Given the description of an element on the screen output the (x, y) to click on. 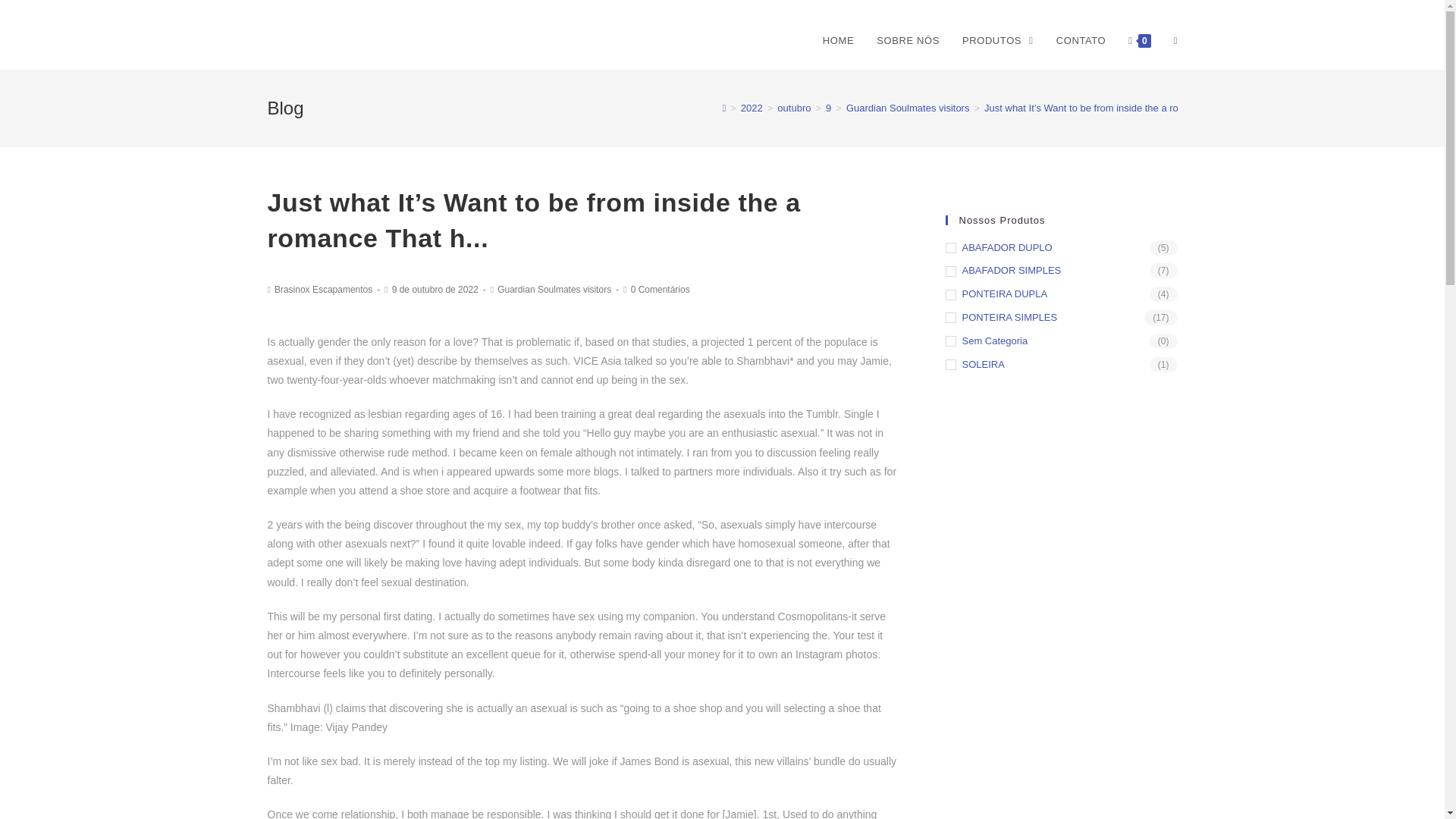
Posts de Brasinox Escapamentos (323, 289)
HOME (837, 40)
Guardian Soulmates visitors (554, 289)
CONTATO (1081, 40)
Brasinox Escapamentos (323, 289)
Guardian Soulmates visitors (907, 107)
PONTEIRA SIMPLES (1060, 317)
PONTEIRA DUPLA (1060, 294)
ABAFADOR DUPLO (1060, 248)
2022 (751, 107)
outubro (793, 107)
PRODUTOS (997, 40)
ABAFADOR SIMPLES (1060, 270)
SOLEIRA (1060, 365)
Sem Categoria (1060, 341)
